Given the description of an element on the screen output the (x, y) to click on. 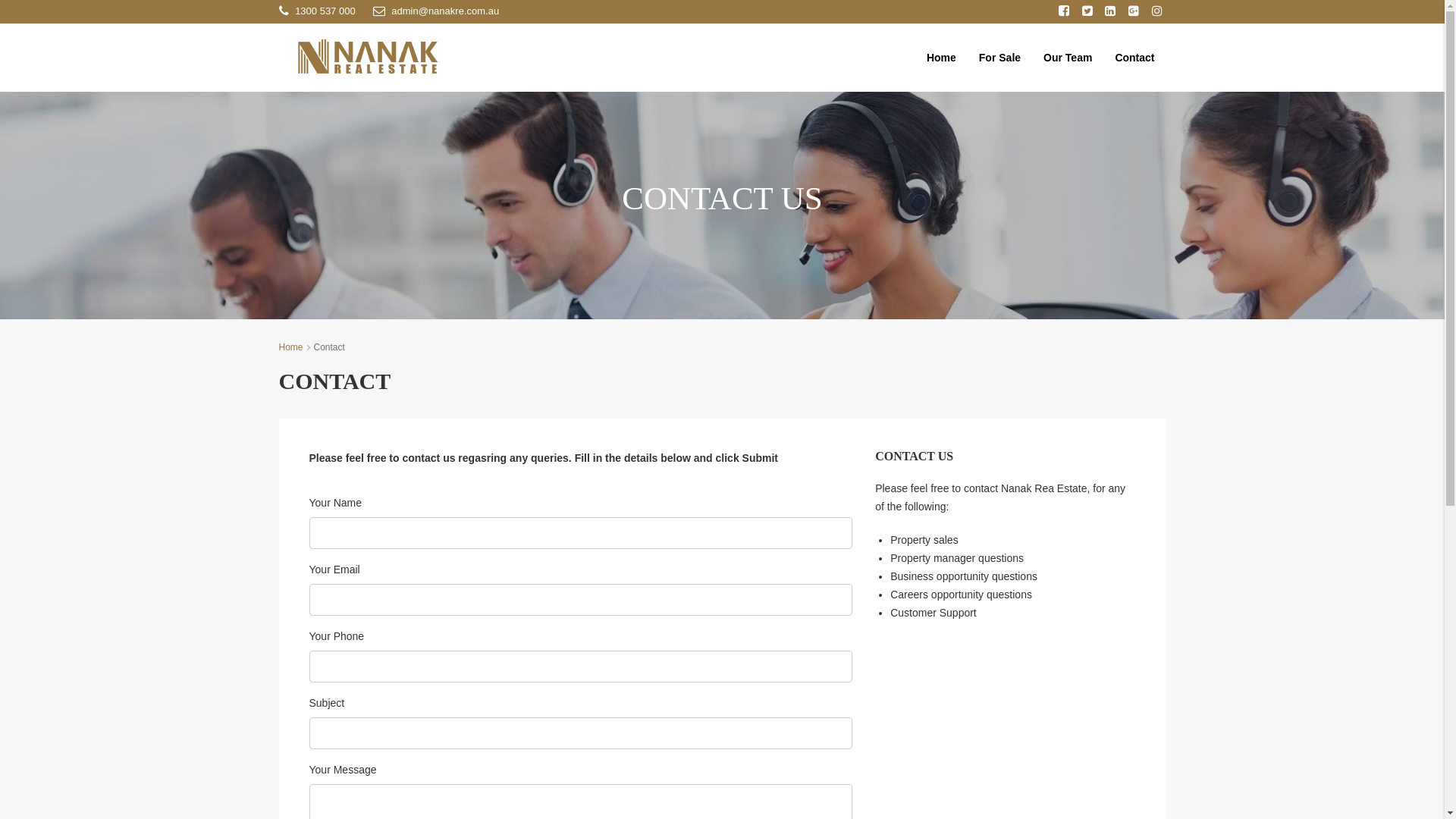
Contact Element type: text (1134, 57)
Home Element type: text (291, 347)
Home Element type: text (941, 57)
1300 537 000 Element type: text (317, 10)
admin@nanakre.com.au Element type: text (435, 10)
For Sale Element type: text (999, 57)
Our Team Element type: text (1067, 57)
